Given the description of an element on the screen output the (x, y) to click on. 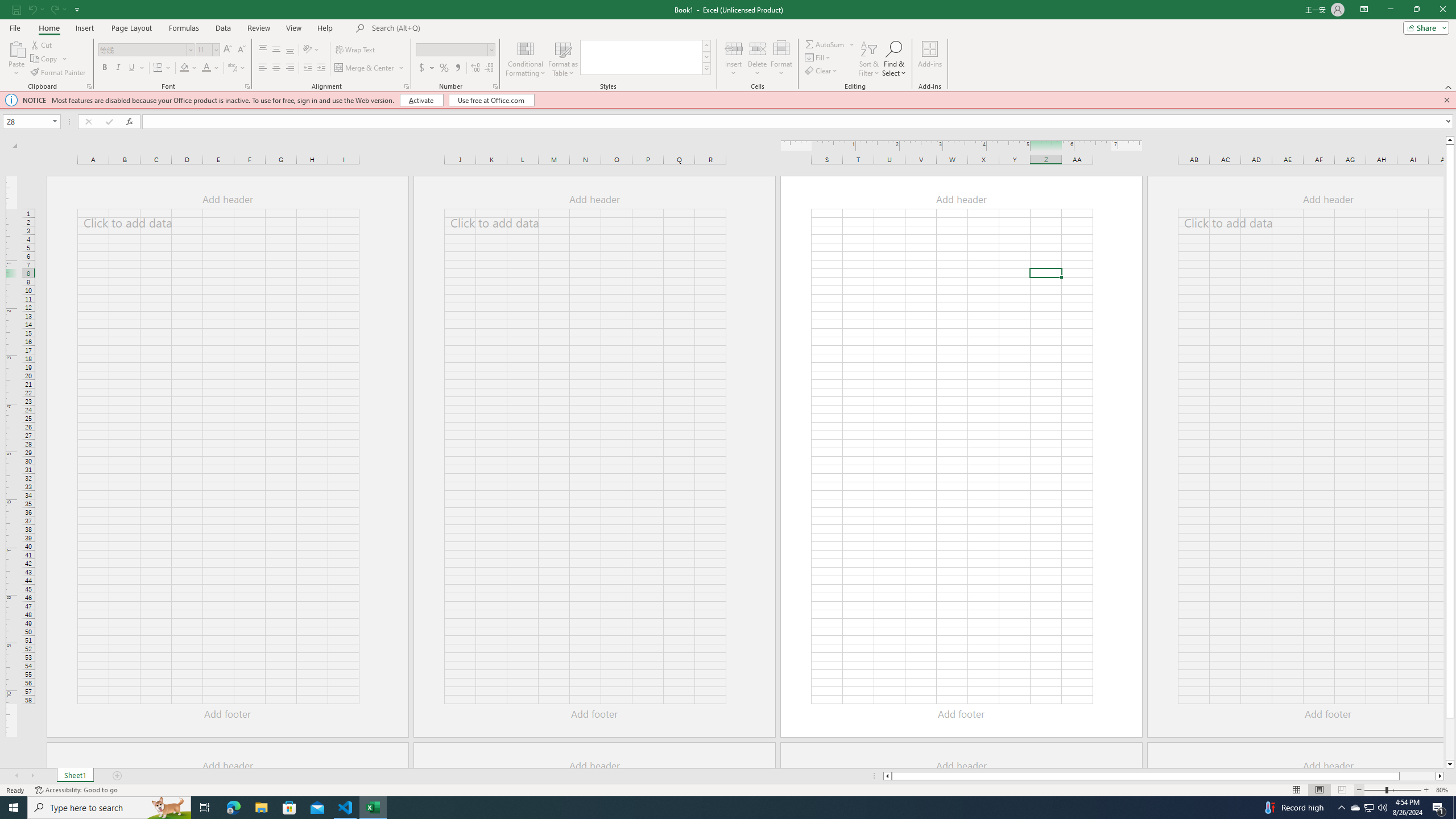
Increase Decimal (474, 67)
Bottom Align (290, 49)
Sum (825, 44)
Delete (757, 58)
AutoSum (830, 44)
Bottom Border (157, 67)
Font Color (206, 67)
Format as Table (563, 58)
